Given the description of an element on the screen output the (x, y) to click on. 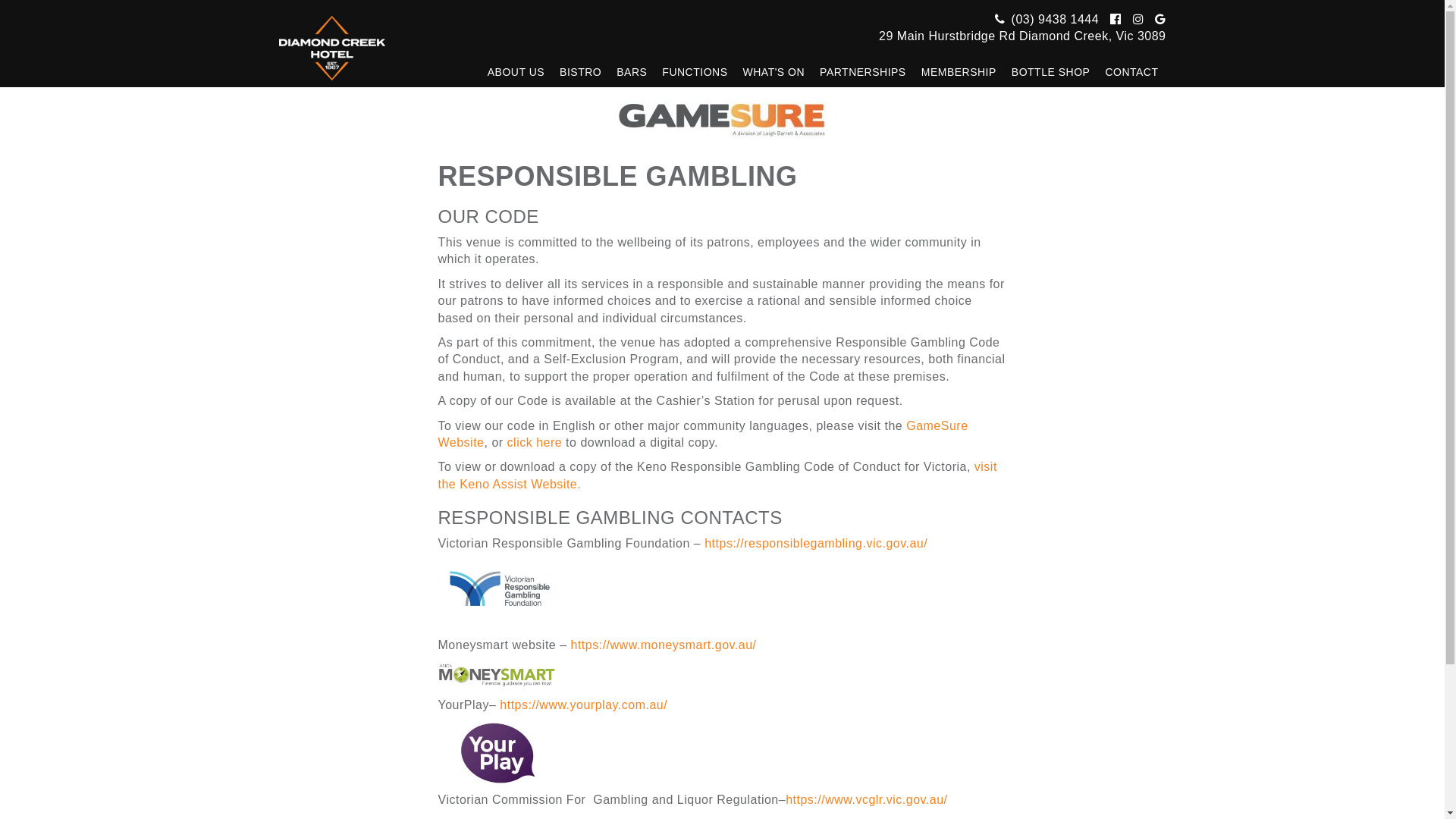
CONTACT Element type: text (1131, 71)
https://www.moneysmart.gov.au/ Element type: text (663, 644)
PARTNERSHIPS Element type: text (862, 71)
GameSure Website Element type: text (703, 433)
WHAT'S ON Element type: text (773, 71)
https://www.yourplay.com.au/ Element type: text (583, 704)
click here Element type: text (534, 442)
visit the Keno Assist Website. Element type: text (717, 474)
https://responsiblegambling.vic.gov.au/ Element type: text (815, 542)
BOTTLE SHOP Element type: text (1051, 71)
BISTRO Element type: text (580, 71)
BARS Element type: text (631, 71)
MEMBERSHIP Element type: text (958, 71)
FUNCTIONS Element type: text (694, 71)
https://www.vcglr.vic.gov.au/ Element type: text (866, 799)
ABOUT US Element type: text (516, 71)
(03) 9438 1444 Element type: text (1044, 18)
